Given the description of an element on the screen output the (x, y) to click on. 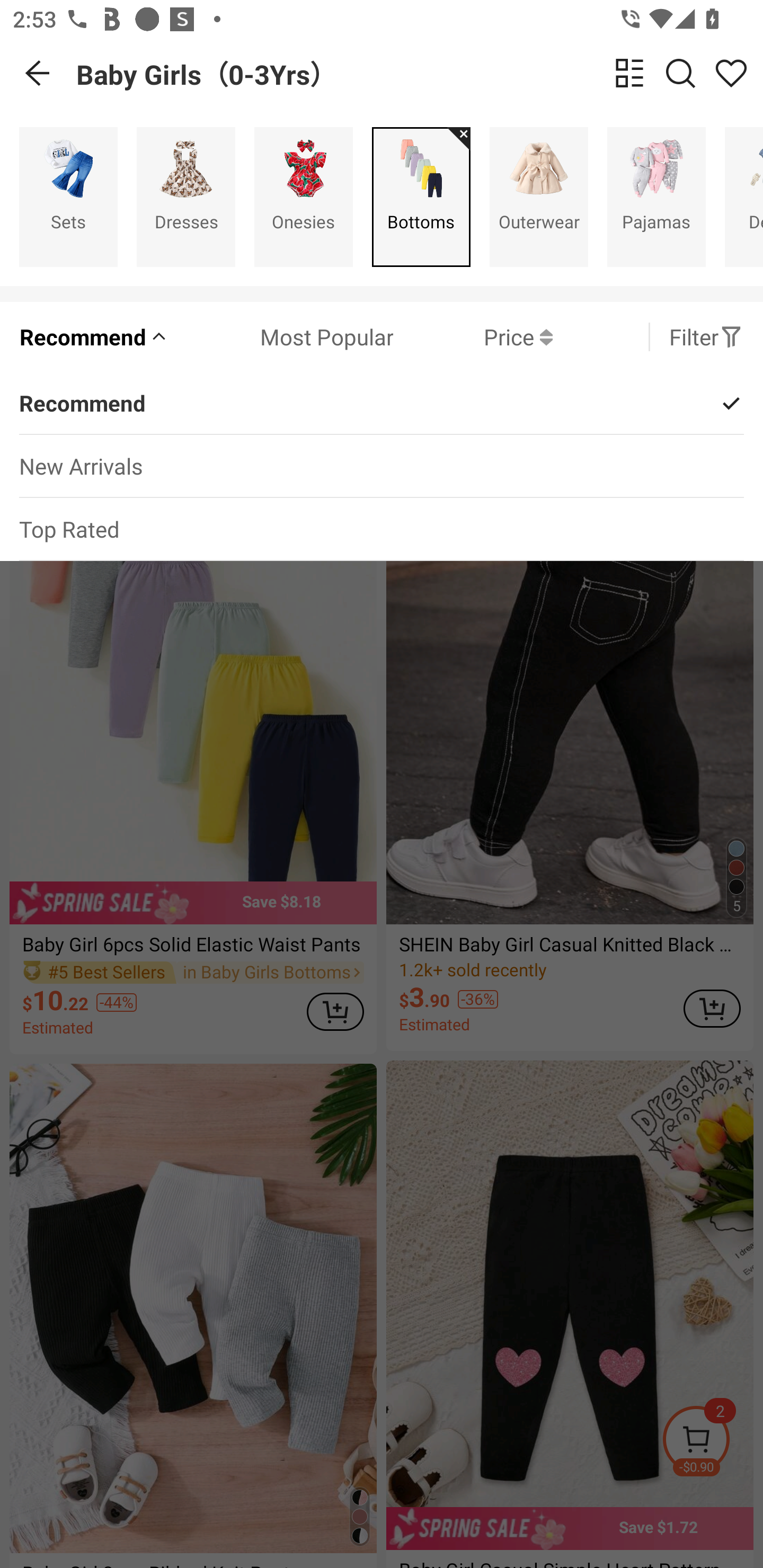
Baby Girls（0-3Yrs） change view Search Share (419, 72)
change view (629, 72)
Search (679, 72)
Share (730, 72)
Sets (68, 196)
Dresses (185, 196)
Onesies (303, 196)
Bottoms (421, 196)
Outerwear (538, 196)
Pajamas (656, 196)
Denim (743, 196)
Recommend (94, 336)
Most Popular (280, 336)
Price (472, 336)
Filter (705, 336)
